Given the description of an element on the screen output the (x, y) to click on. 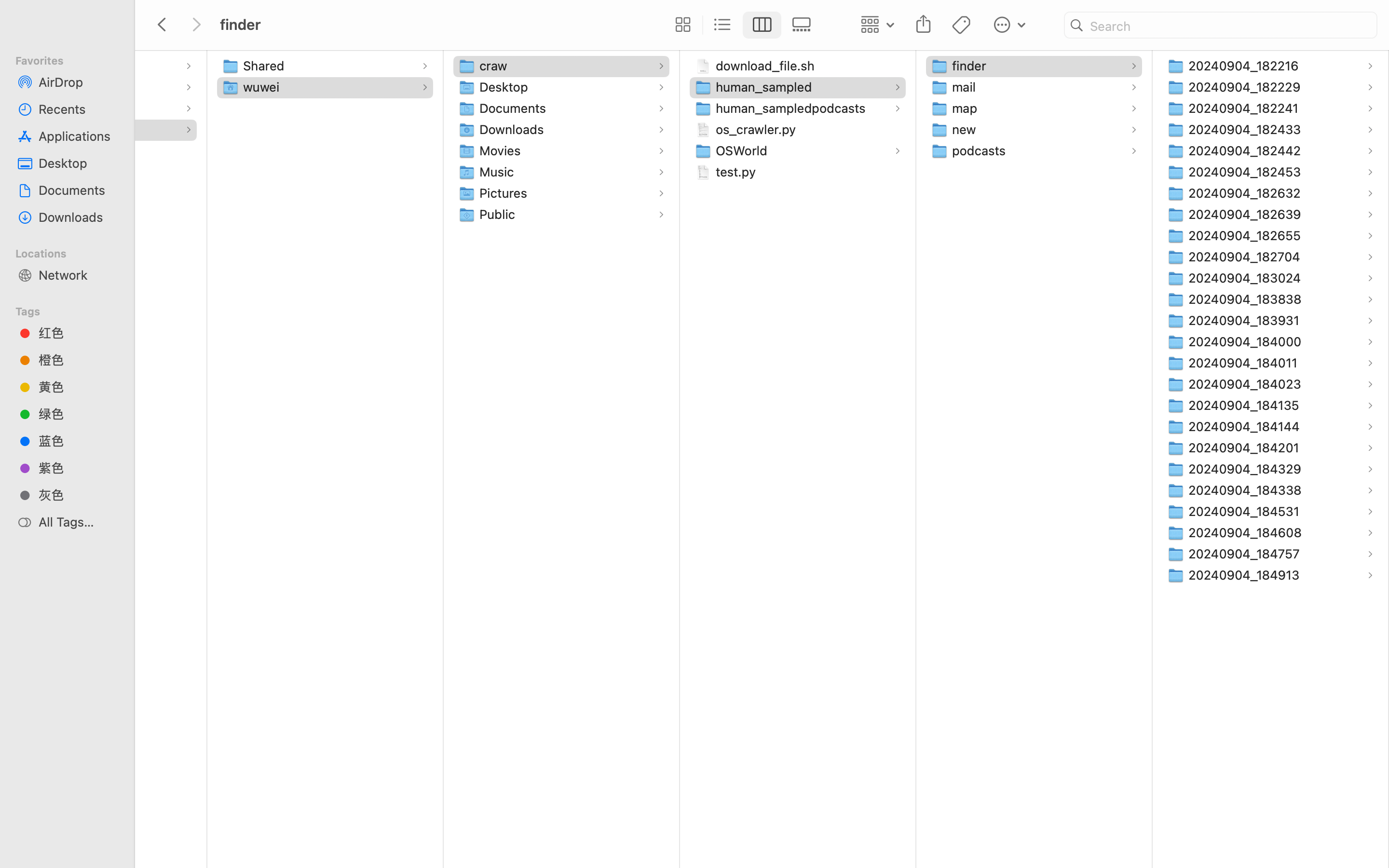
map Element type: AXTextField (966, 107)
Network Element type: AXStaticText (77, 274)
Locations Element type: AXStaticText (72, 252)
human_sampled Element type: AXTextField (765, 86)
20240904_184023 Element type: AXTextField (1246, 383)
